Given the description of an element on the screen output the (x, y) to click on. 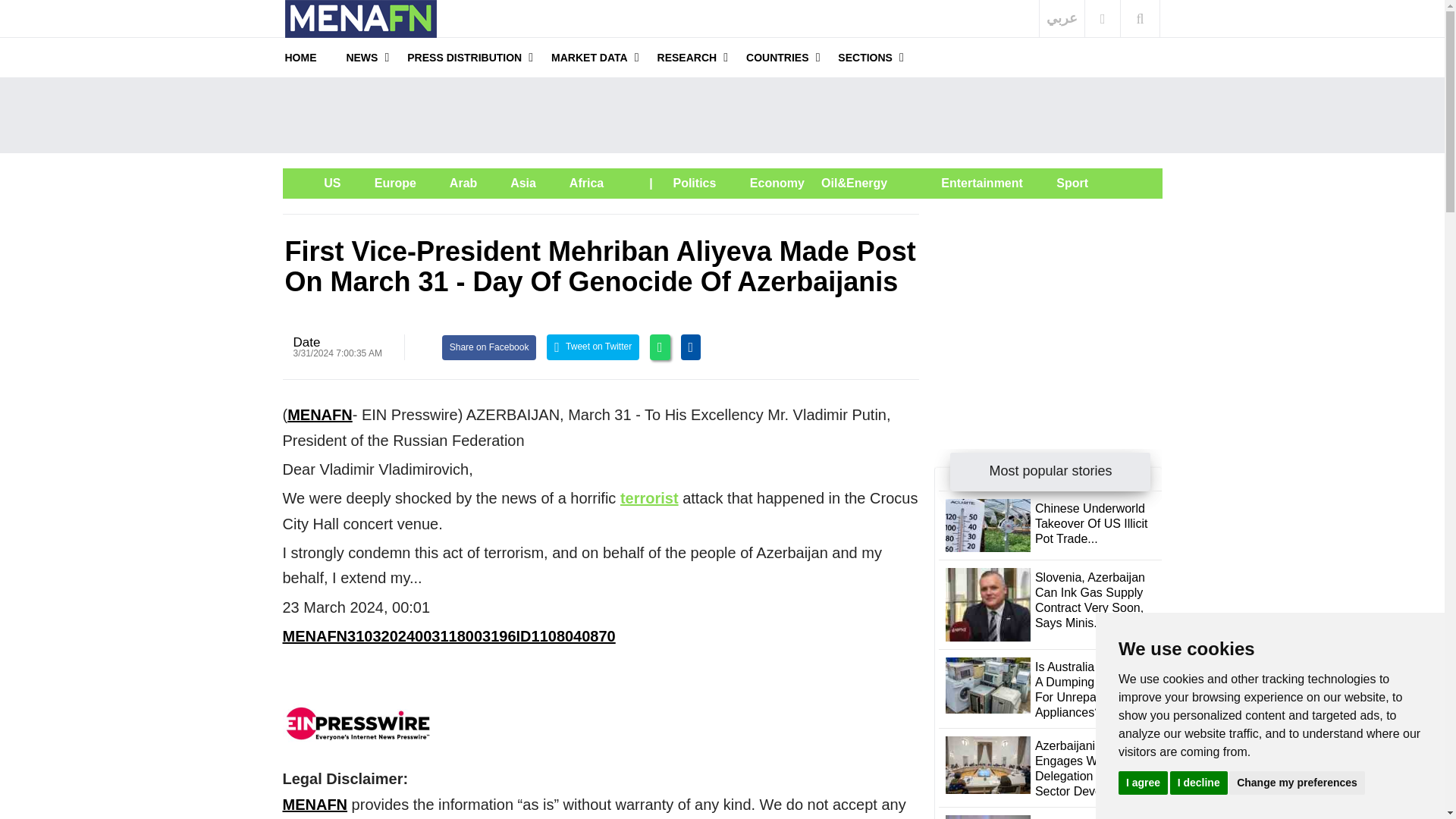
Advertisement (721, 115)
Posts by NewEdge (306, 341)
Change my preferences (1296, 781)
MARKET DATA (589, 56)
I decline (1198, 781)
I agree (1142, 781)
Advertisement (1047, 308)
PRESS DISTRIBUTION (464, 56)
